Given the description of an element on the screen output the (x, y) to click on. 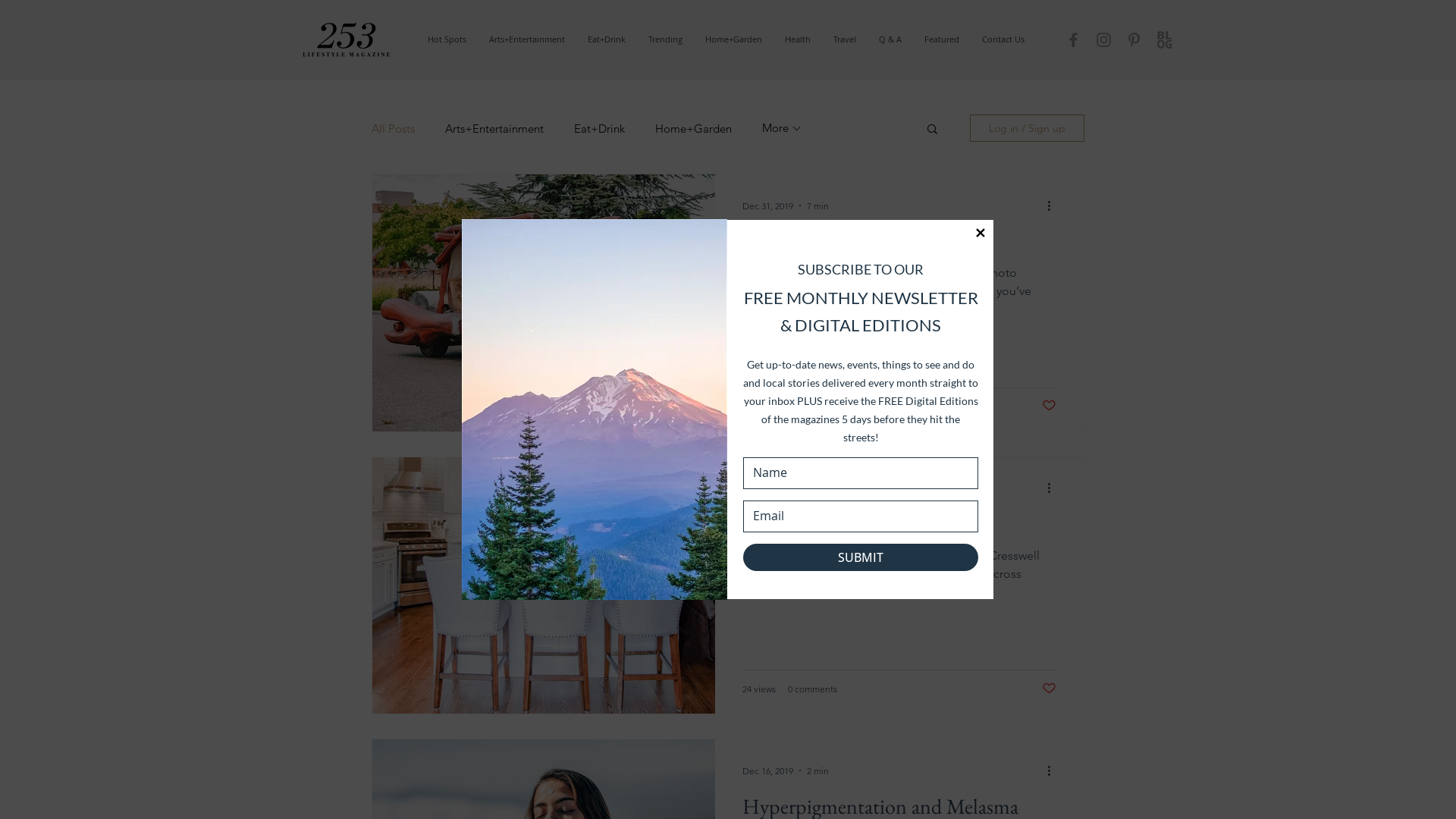
Home+Garden Element type: text (693, 128)
Featured Element type: text (941, 39)
Arts+Entertainment Element type: text (494, 128)
Arts+Entertainment Element type: text (526, 39)
Grey Pinterest Icon Element type: hover (1133, 39)
Grey Facebook Icon Element type: hover (1072, 39)
From Model T to GT4 Element type: hover (543, 302)
Home+Garden Element type: text (733, 39)
Health Element type: text (797, 39)
Travel Element type: text (844, 39)
Post not marked as liked Element type: text (1048, 688)
Blog Element type: hover (1163, 39)
Contact Us Element type: text (1002, 39)
0 comments Element type: text (812, 687)
Eat+Drink Element type: text (599, 128)
Hardwood 101 Element type: hover (543, 585)
Grey Instagram Icon Element type: hover (1103, 39)
Eat+Drink Element type: text (606, 39)
Q & A Element type: text (890, 39)
Trending Element type: text (665, 39)
Hot Spots Element type: text (446, 39)
All Posts Element type: text (392, 128)
Post not marked as liked Element type: text (1048, 406)
From Model T to GT4 Element type: text (899, 245)
SUBMIT Element type: text (860, 556)
0 comments Element type: text (812, 405)
Hardwood 101 Element type: text (899, 527)
253 Lifestyle Magazine Element type: hover (345, 39)
Log in / Sign up Element type: text (1026, 127)
Close Element type: hover (980, 232)
